Given the description of an element on the screen output the (x, y) to click on. 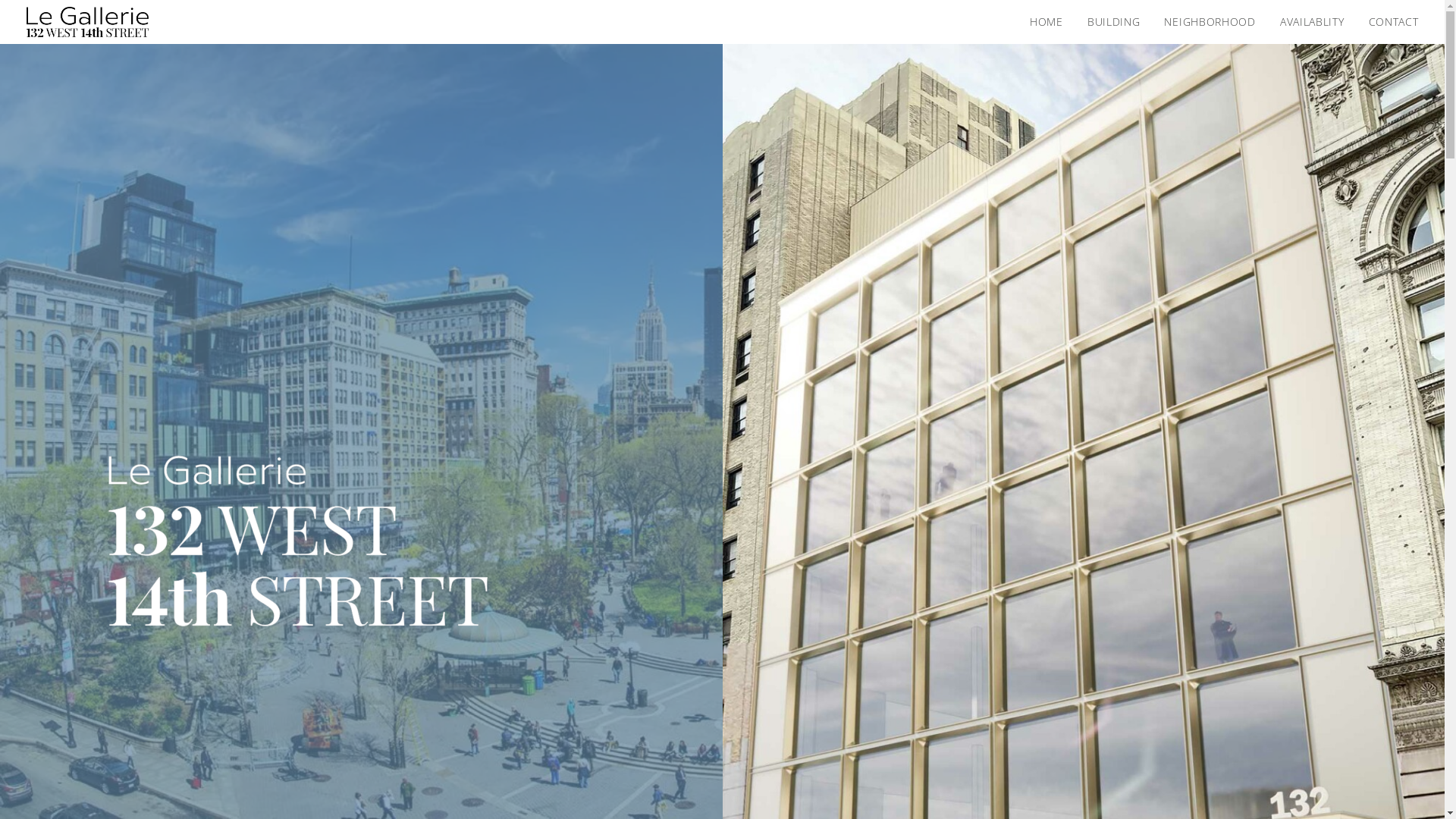
BUILDING Element type: text (1113, 21)
CONTACT Element type: text (1388, 21)
HOME Element type: text (1051, 21)
NEIGHBORHOOD Element type: text (1209, 21)
AVAILABLITY Element type: text (1312, 21)
